Given the description of an element on the screen output the (x, y) to click on. 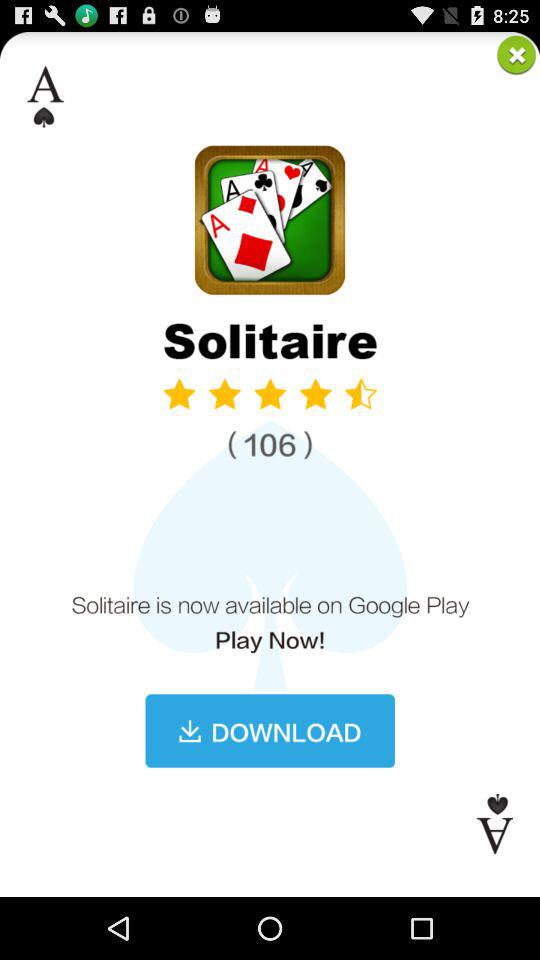
closing the solitaire (516, 54)
